Given the description of an element on the screen output the (x, y) to click on. 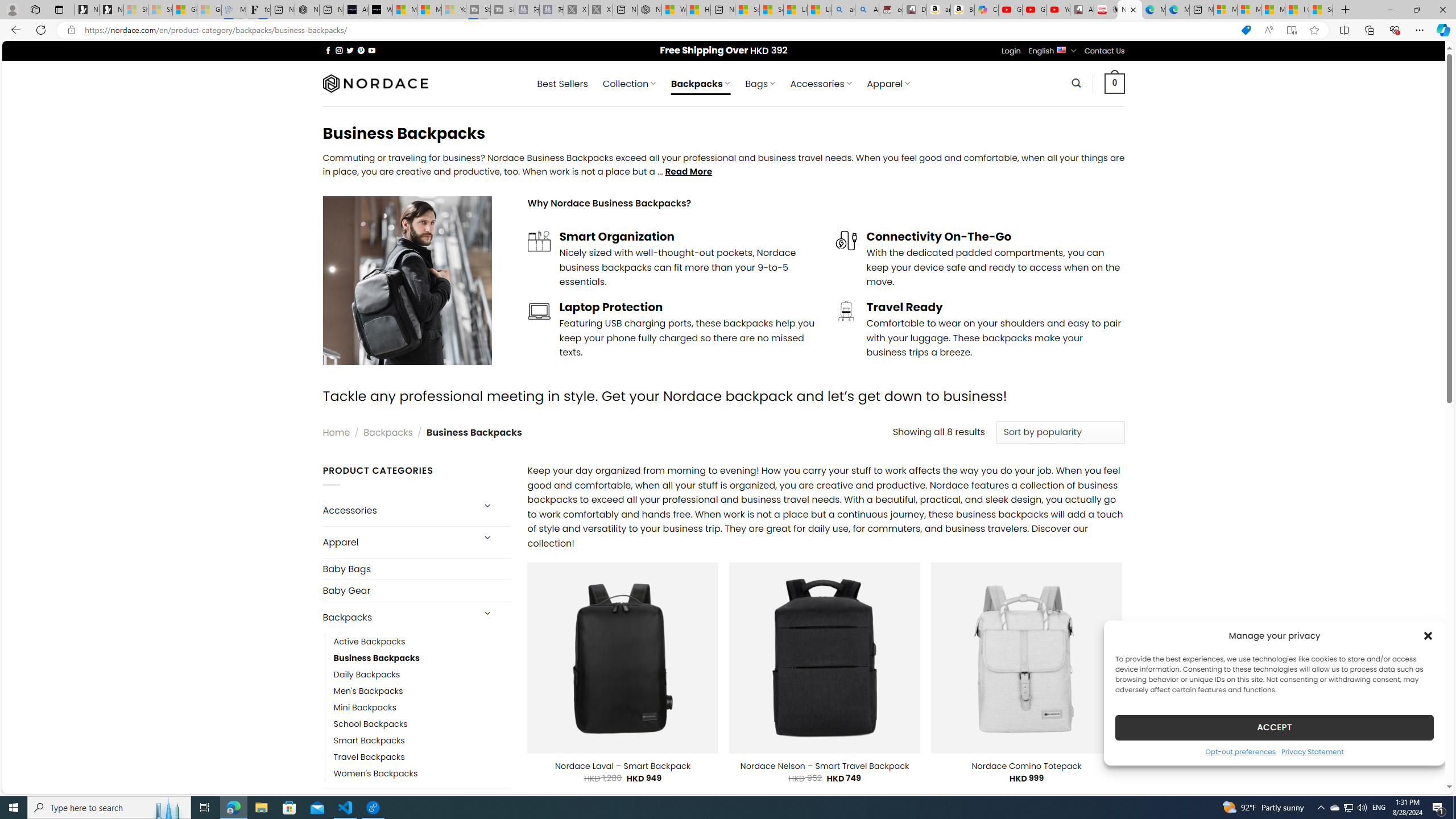
Men's Backpacks (422, 690)
Men's Backpacks (368, 690)
Smart Backpacks (422, 740)
Mini Backpacks (422, 706)
